Given the description of an element on the screen output the (x, y) to click on. 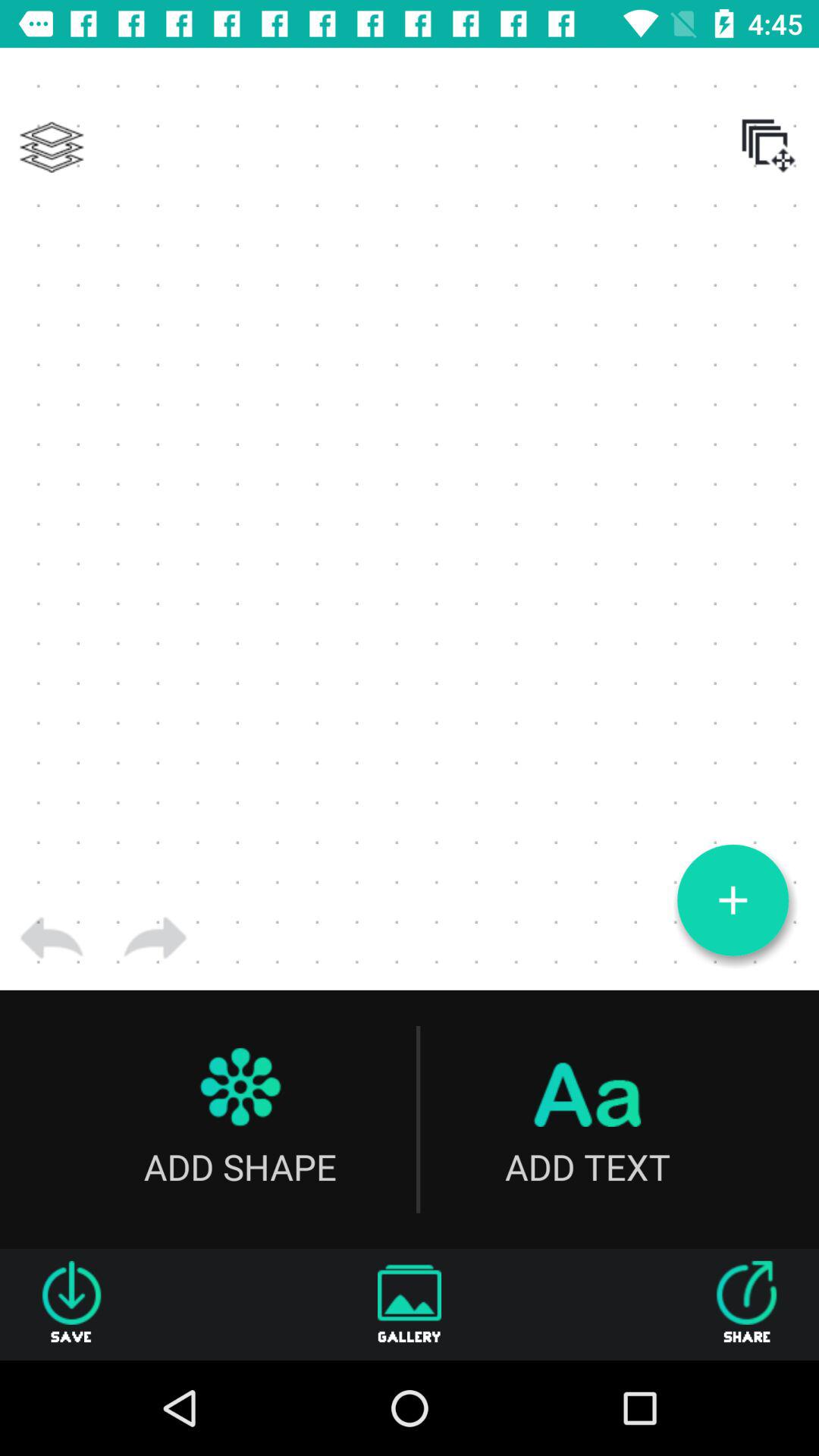
launch icon to the left of the share icon (409, 1304)
